Given the description of an element on the screen output the (x, y) to click on. 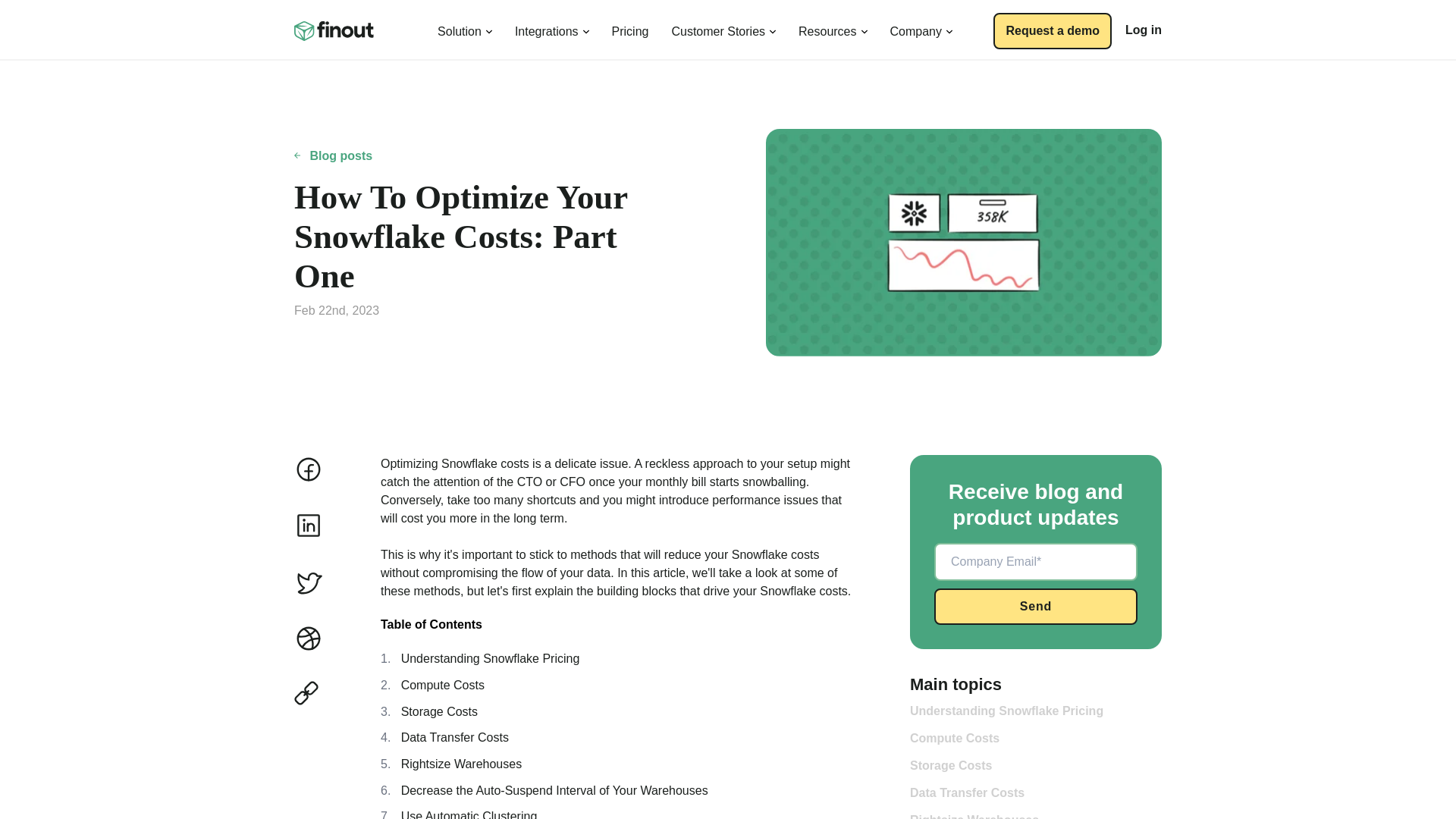
Customer Stories (723, 29)
Pricing (630, 29)
Integrations (551, 29)
Log in (1143, 30)
Solution (464, 29)
Send (1035, 606)
Book a Demo (1052, 30)
Log in (1143, 30)
